Given the description of an element on the screen output the (x, y) to click on. 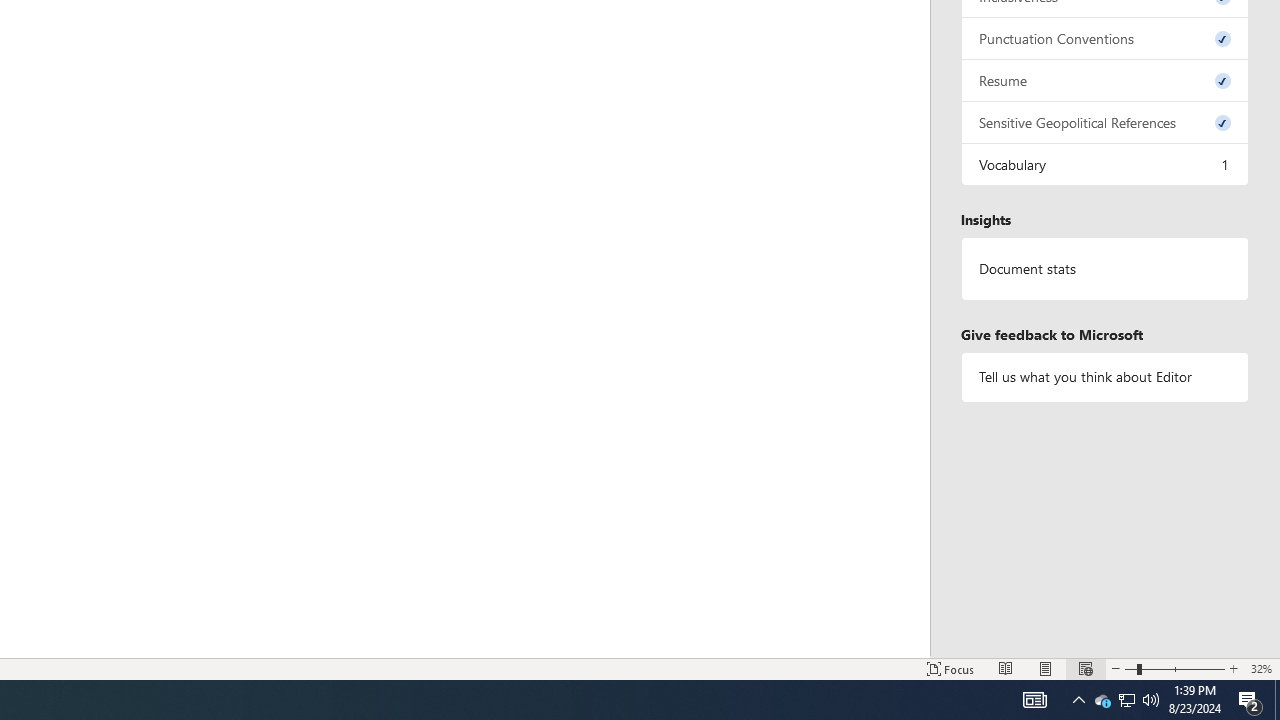
Vocabulary, 1 issue. Press space or enter to review items. (1105, 164)
Tell us what you think about Editor (1105, 376)
Resume, 0 issues. Press space or enter to review items. (1105, 79)
Zoom 32% (1261, 668)
Document statistics (1105, 269)
